Given the description of an element on the screen output the (x, y) to click on. 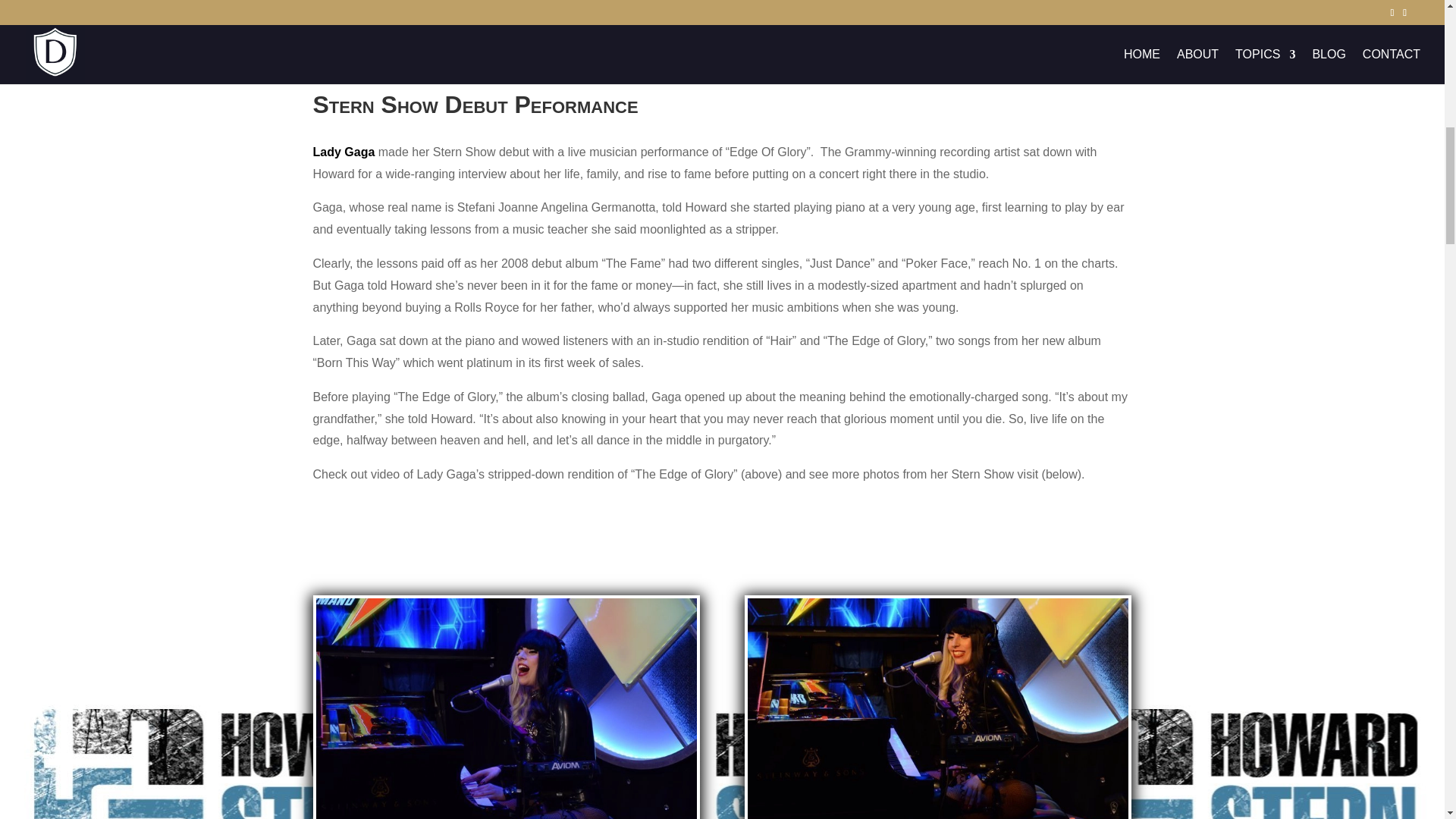
Howard Stern Video Performance  (938, 708)
Lady Gaga (343, 151)
Lady Gaga performing on Stern Radio Show (505, 708)
Lady Gaga (343, 151)
